Given the description of an element on the screen output the (x, y) to click on. 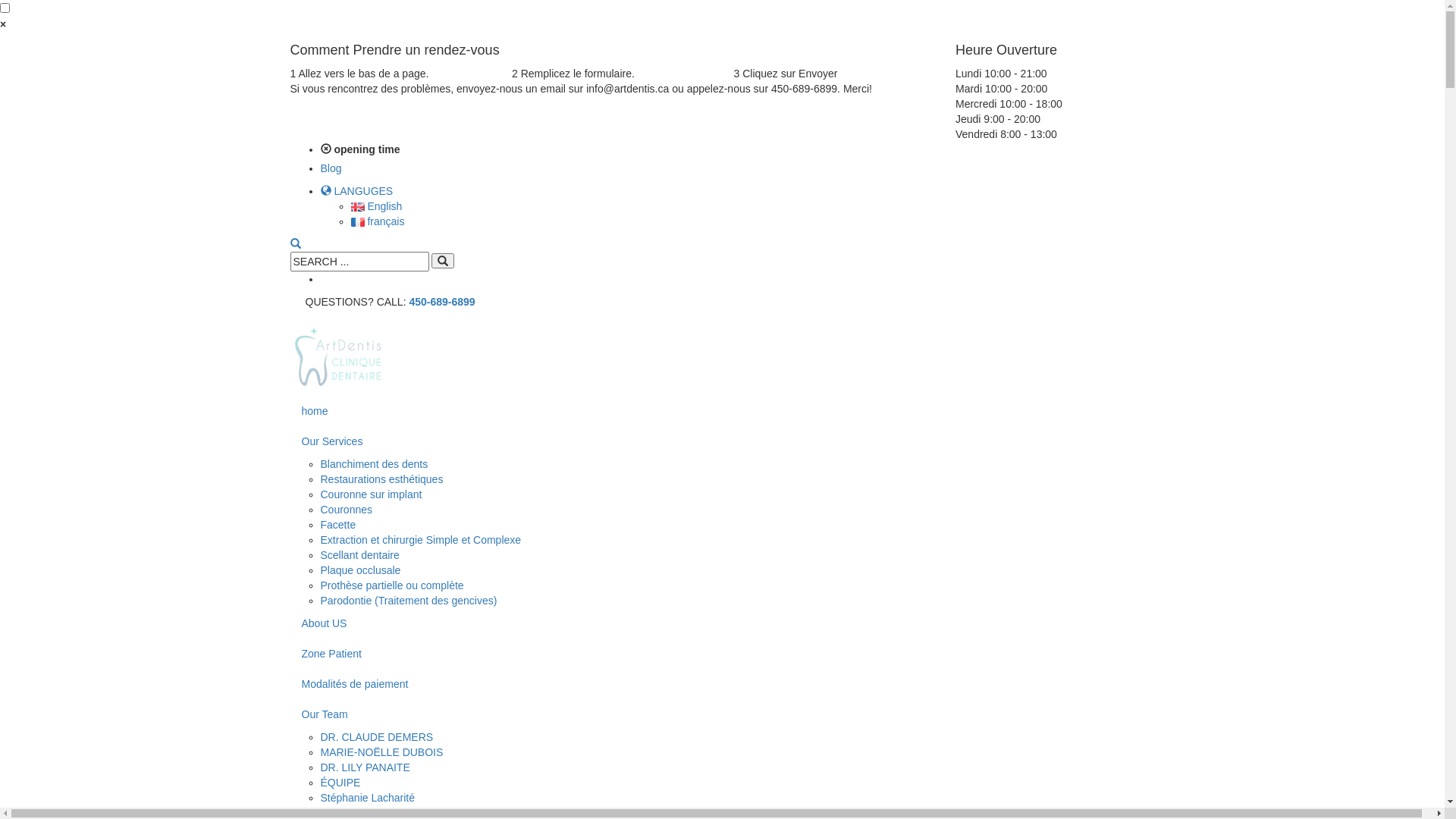
Our Team Element type: text (721, 714)
Our Services Element type: text (721, 441)
Parodontie (Traitement des gencives) Element type: text (408, 600)
English Element type: text (375, 206)
Blog Element type: text (330, 168)
Facette Element type: text (337, 524)
Blanchiment des dents Element type: text (373, 464)
Couronnes Element type: text (346, 509)
About US Element type: text (721, 623)
LANGUGES Element type: text (356, 191)
Scellant dentaire Element type: text (359, 555)
Zone Patient Element type: text (721, 653)
Couronne sur implant Element type: text (370, 494)
DR. CLAUDE DEMERS Element type: text (376, 737)
home Element type: text (721, 410)
Extraction et chirurgie Simple et Complexe Element type: text (420, 539)
DR. LILY PANAITE Element type: text (364, 767)
450-689-6899 Element type: text (441, 301)
Plaque occlusale Element type: text (360, 570)
